Given the description of an element on the screen output the (x, y) to click on. 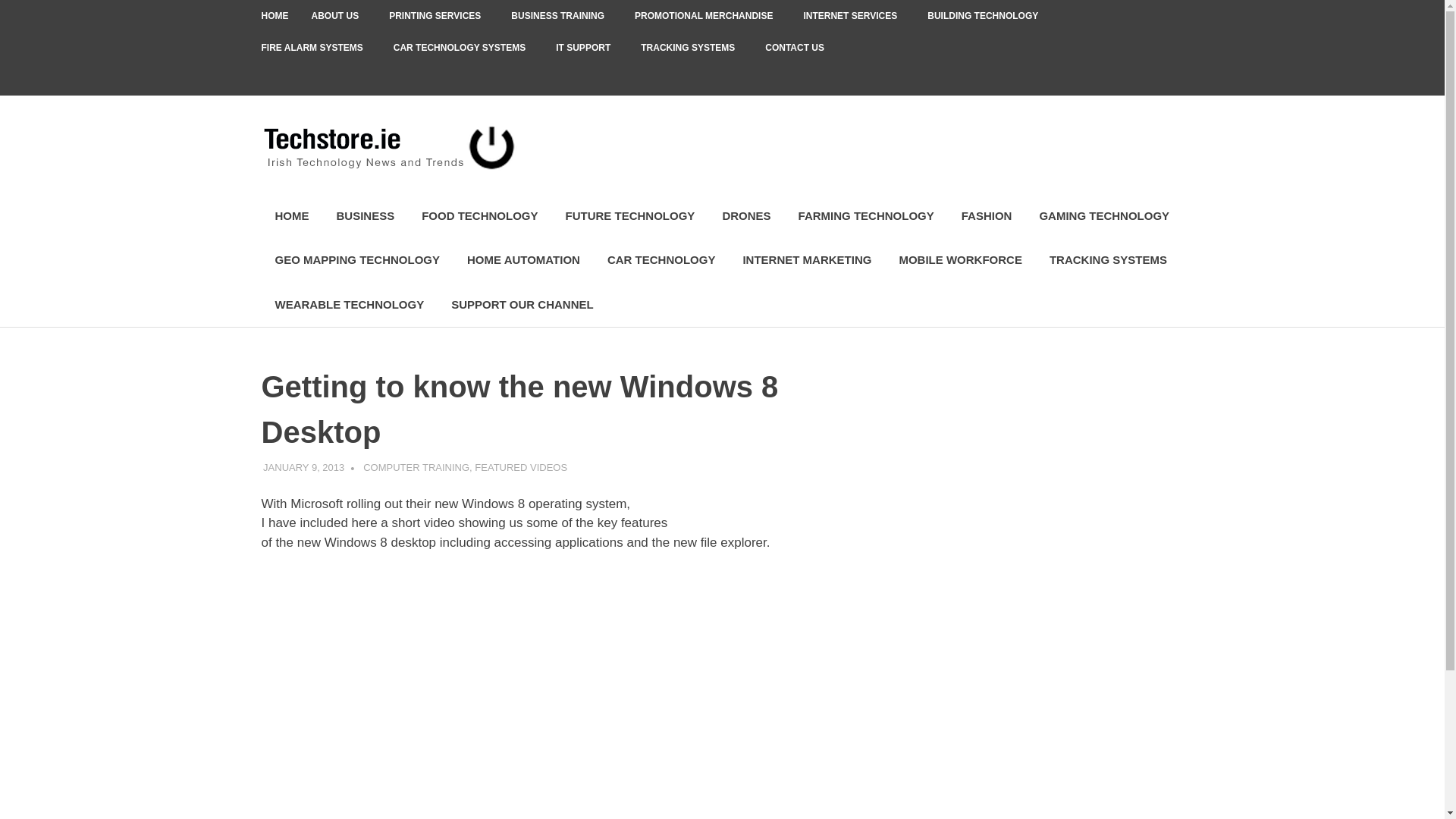
12:41 pm (303, 467)
Tumblar (1135, 79)
Pinterest (1103, 79)
BUSINESS TRAINING (561, 15)
ABOUT US (338, 15)
PROMOTIONAL MERCHANDISE (707, 15)
PRINTING SERVICES (438, 15)
HOME (274, 15)
rss (1166, 79)
View all posts by Unipro2013main (403, 467)
